Given the description of an element on the screen output the (x, y) to click on. 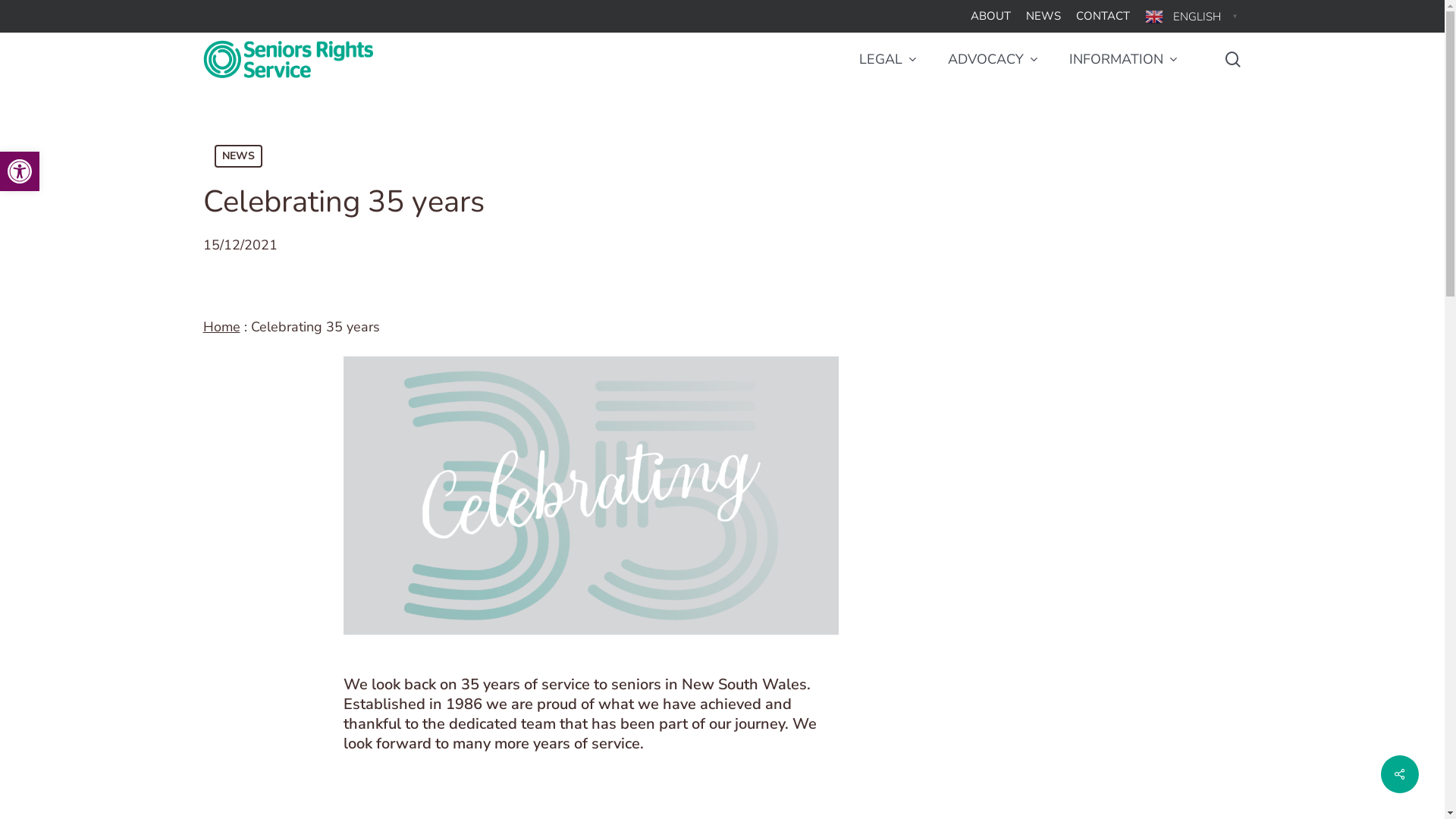
Home Element type: text (221, 326)
ABOUT Element type: text (990, 16)
INFORMATION Element type: text (1123, 58)
CONTACT Element type: text (1102, 16)
LEGAL Element type: text (887, 58)
search Element type: text (1232, 59)
ADVOCACY Element type: text (992, 58)
Open toolbar
Accessibility Tools Element type: text (19, 171)
NEWS Element type: text (237, 155)
NEWS Element type: text (1043, 16)
